Given the description of an element on the screen output the (x, y) to click on. 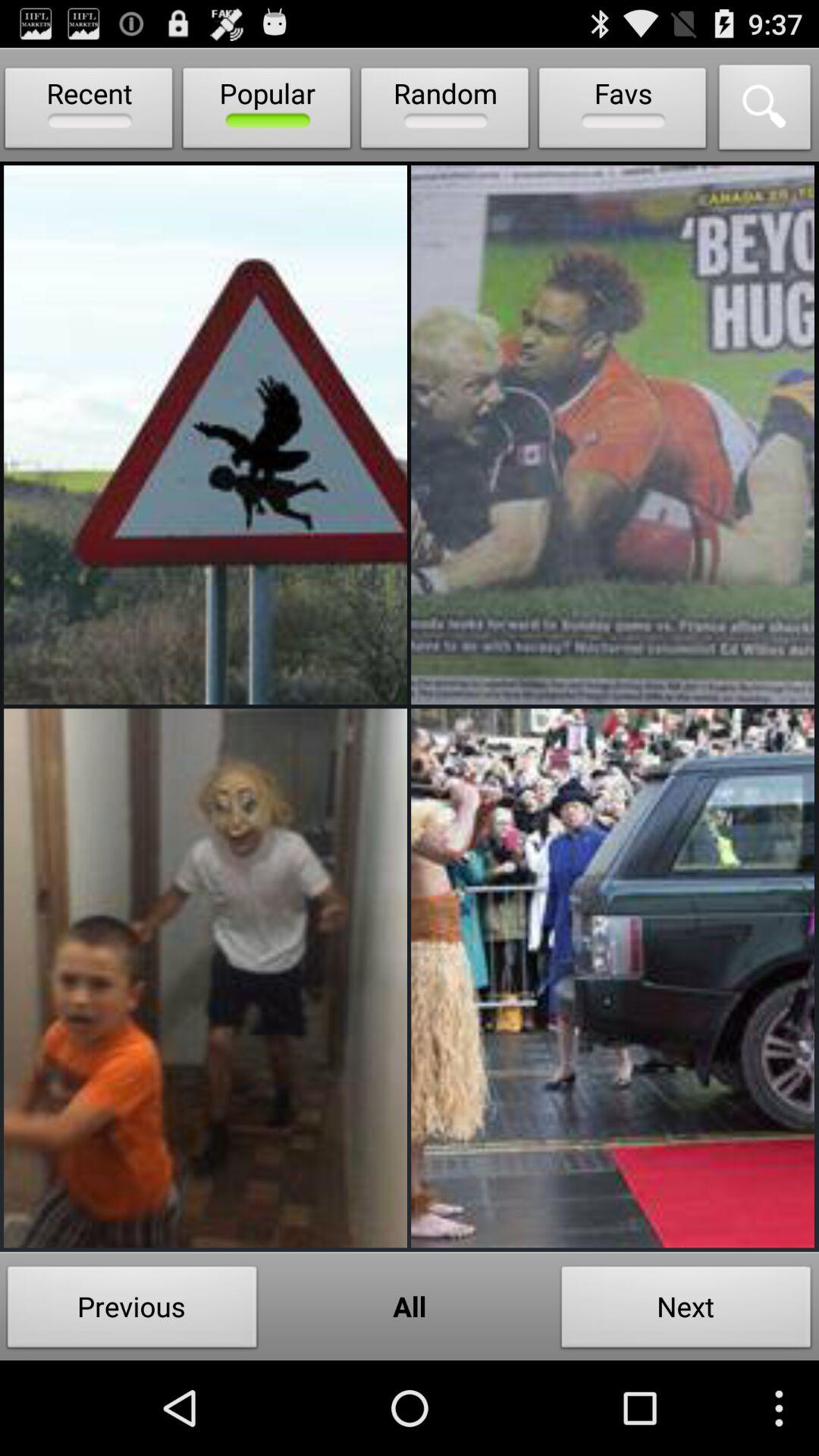
tap icon to the left of the popular (89, 111)
